Given the description of an element on the screen output the (x, y) to click on. 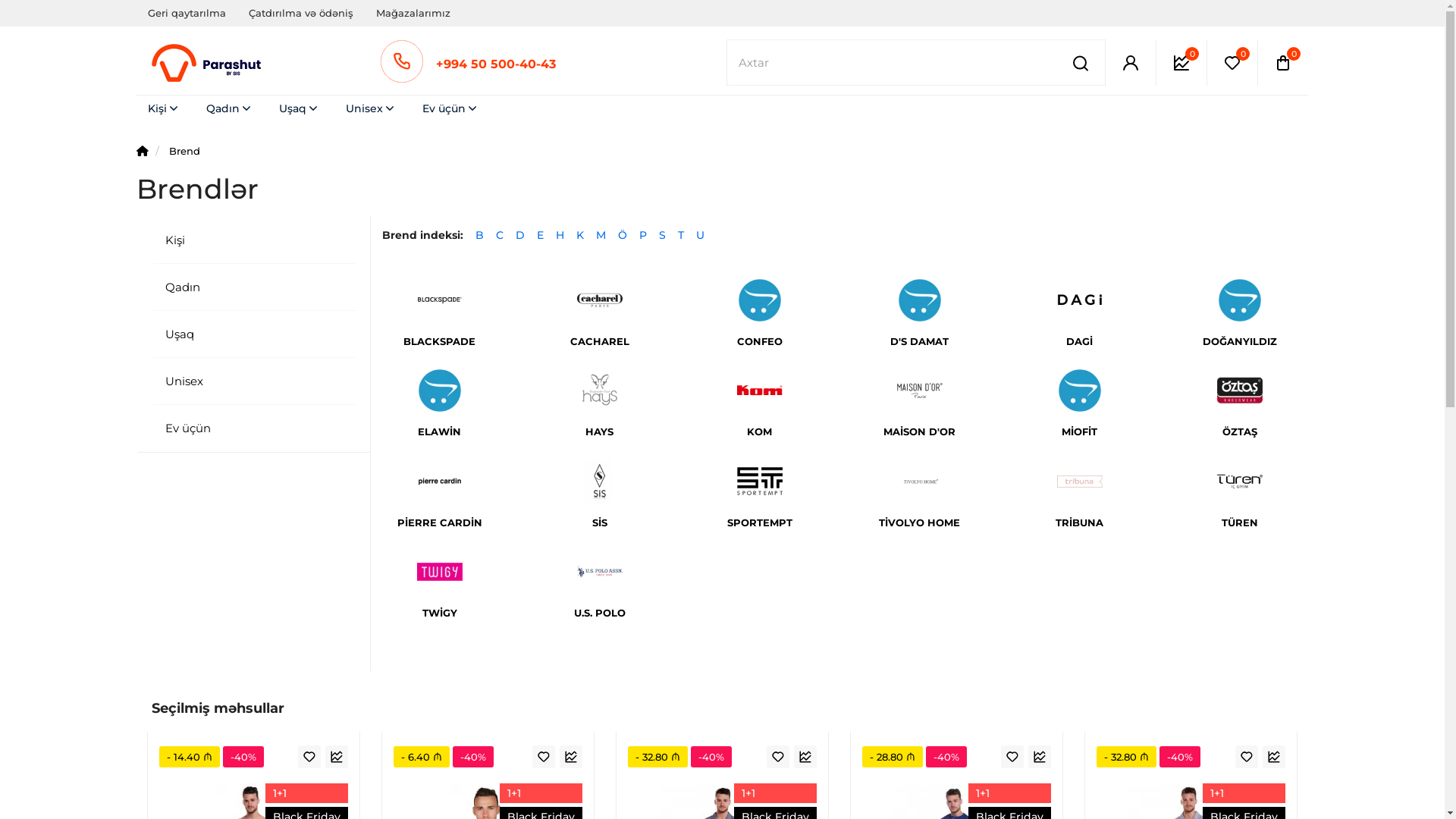
BLACKSPADE Element type: text (439, 341)
SPORTEMPT Element type: text (759, 522)
M Element type: text (600, 234)
D'S DAMAT Element type: text (919, 341)
E Element type: text (539, 234)
TRIBUNA Element type: text (1079, 522)
C Element type: text (499, 234)
H Element type: text (559, 234)
U.S. POLO Element type: text (599, 613)
Brend Element type: text (184, 150)
0 Element type: text (1181, 62)
0 Element type: text (1232, 62)
Unisex Element type: text (253, 380)
Parashut Element type: hover (208, 62)
TIVOLYO HOME Element type: text (919, 522)
PIERRE CARDIN Element type: text (439, 522)
T Element type: text (680, 234)
KOM Element type: text (759, 431)
B Element type: text (479, 234)
K Element type: text (579, 234)
MAISON D'OR Element type: text (919, 431)
P Element type: text (642, 234)
HAYS Element type: text (599, 431)
MIOFIT Element type: text (1079, 431)
D Element type: text (519, 234)
TWIGY Element type: text (439, 613)
DAGI Element type: text (1079, 341)
CACHAREL Element type: text (599, 341)
Unisex Element type: text (370, 108)
U Element type: text (700, 234)
+994 50 500-40-43 Element type: text (495, 63)
ELAWIN Element type: text (439, 431)
CONFEO Element type: text (759, 341)
S Element type: text (661, 234)
